Given the description of an element on the screen output the (x, y) to click on. 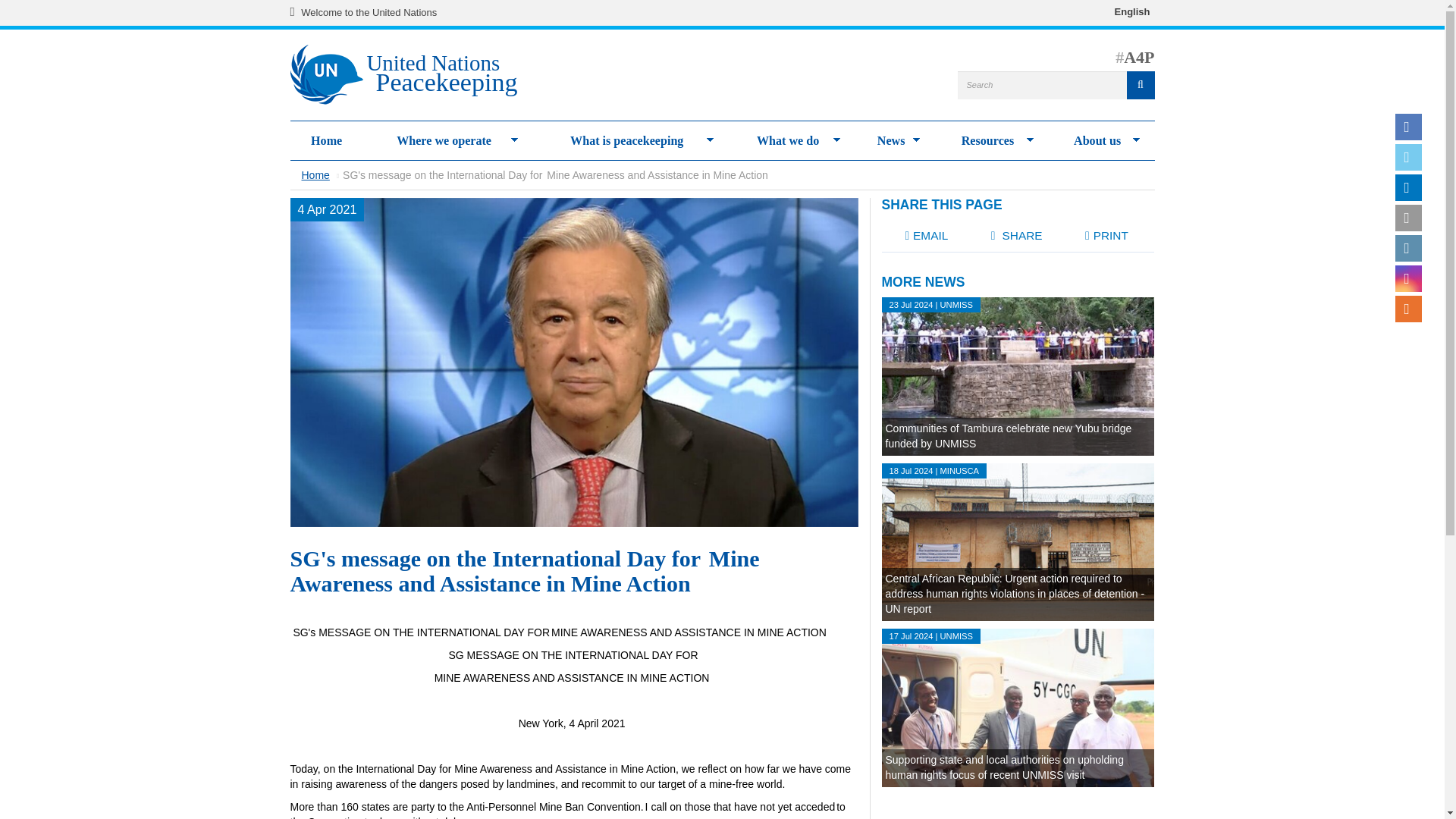
Home (325, 140)
Enter the terms you wish to search for. (1055, 85)
English (1132, 11)
United Nations (295, 12)
Home (332, 75)
Home (446, 76)
Welcome to the United Nations (446, 76)
Skip to main content (368, 12)
